Given the description of an element on the screen output the (x, y) to click on. 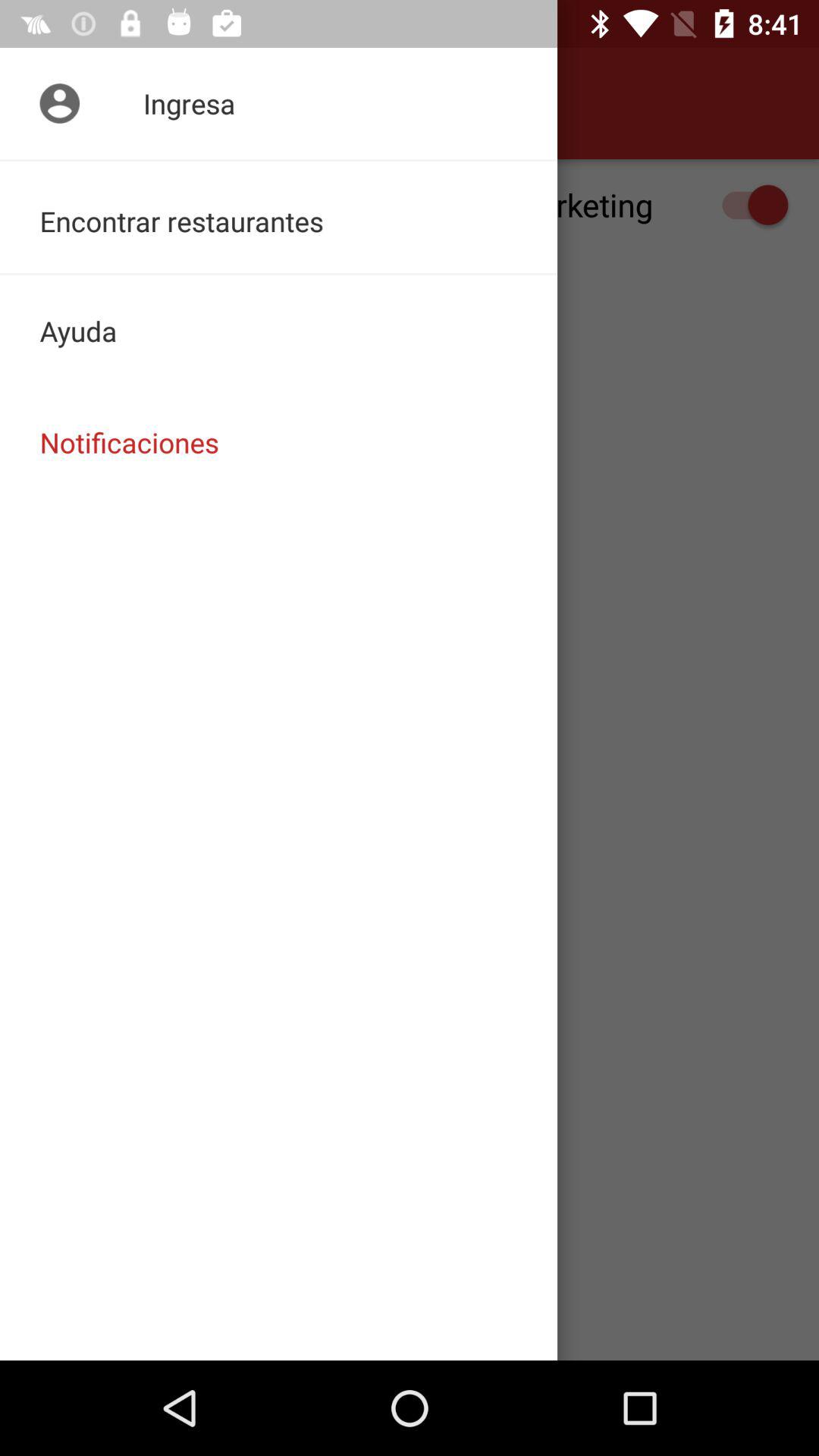
tap item above the recibir notificaciones de item (278, 103)
